Given the description of an element on the screen output the (x, y) to click on. 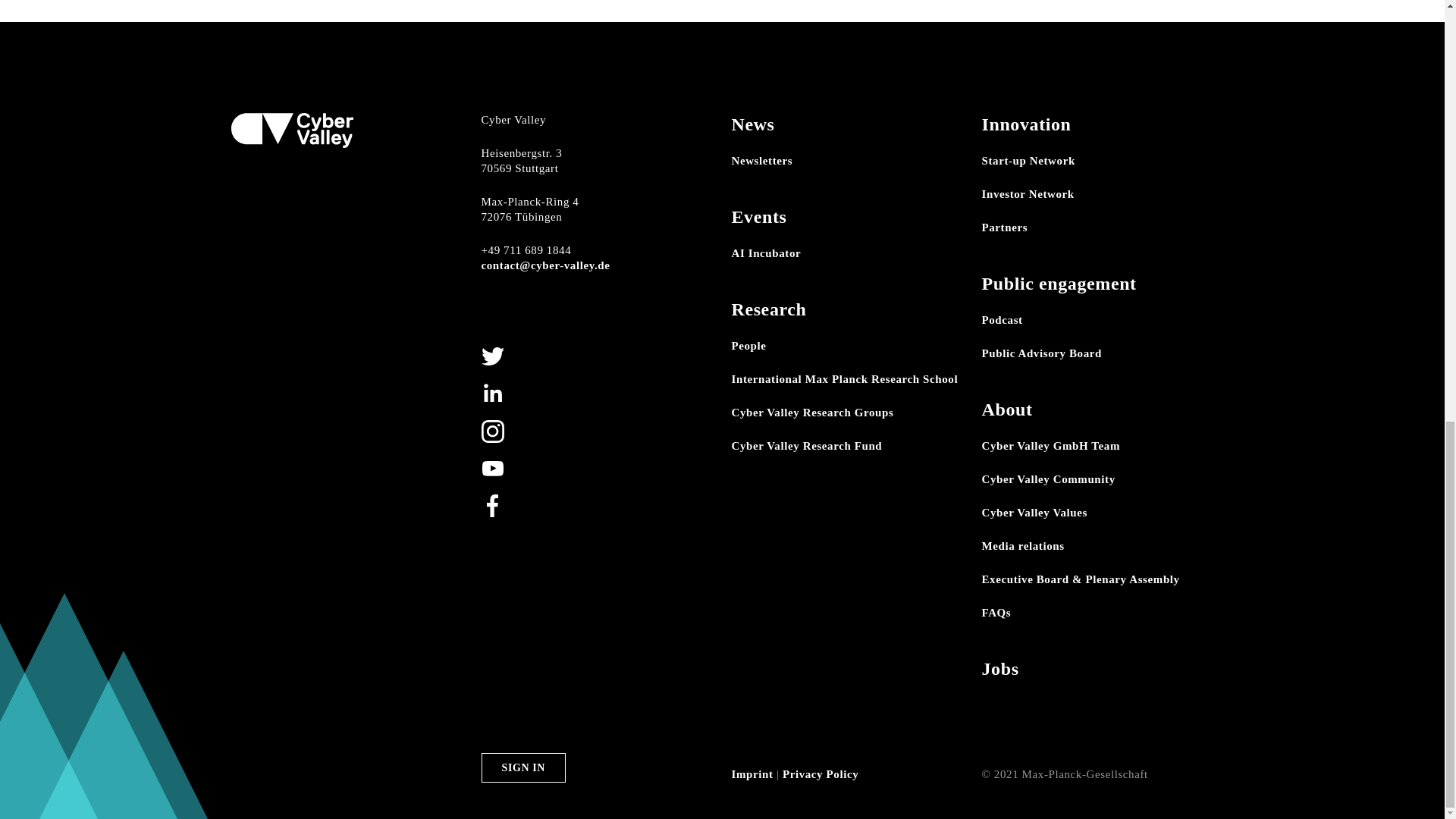
International Max Planck Research School (844, 378)
Research (768, 309)
Cyber Valley (291, 128)
Cyber Valley (291, 130)
News (752, 124)
Newsletters (761, 160)
People (747, 345)
AI Incubator (765, 253)
Events (758, 216)
